Given the description of an element on the screen output the (x, y) to click on. 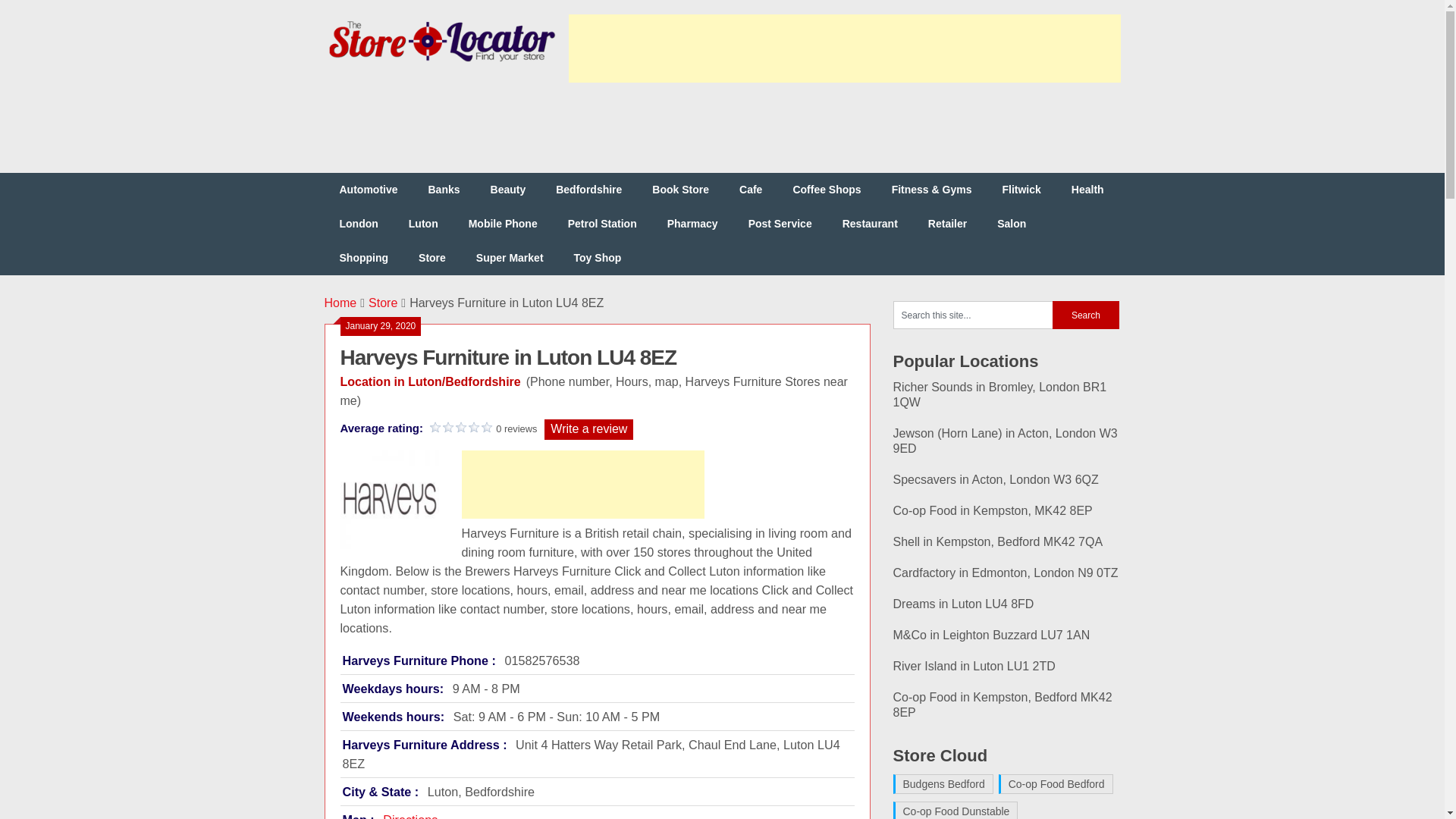
Harveys Furniture hours, phone, locations (388, 499)
Health (1088, 189)
Flitwick (1021, 189)
Automotive (368, 189)
Coffee Shops (826, 189)
Bedfordshire (588, 189)
Search this site... (972, 315)
Banks (443, 189)
Beauty (508, 189)
Cafe (750, 189)
Book Store (680, 189)
London (358, 223)
Search (1085, 315)
